Given the description of an element on the screen output the (x, y) to click on. 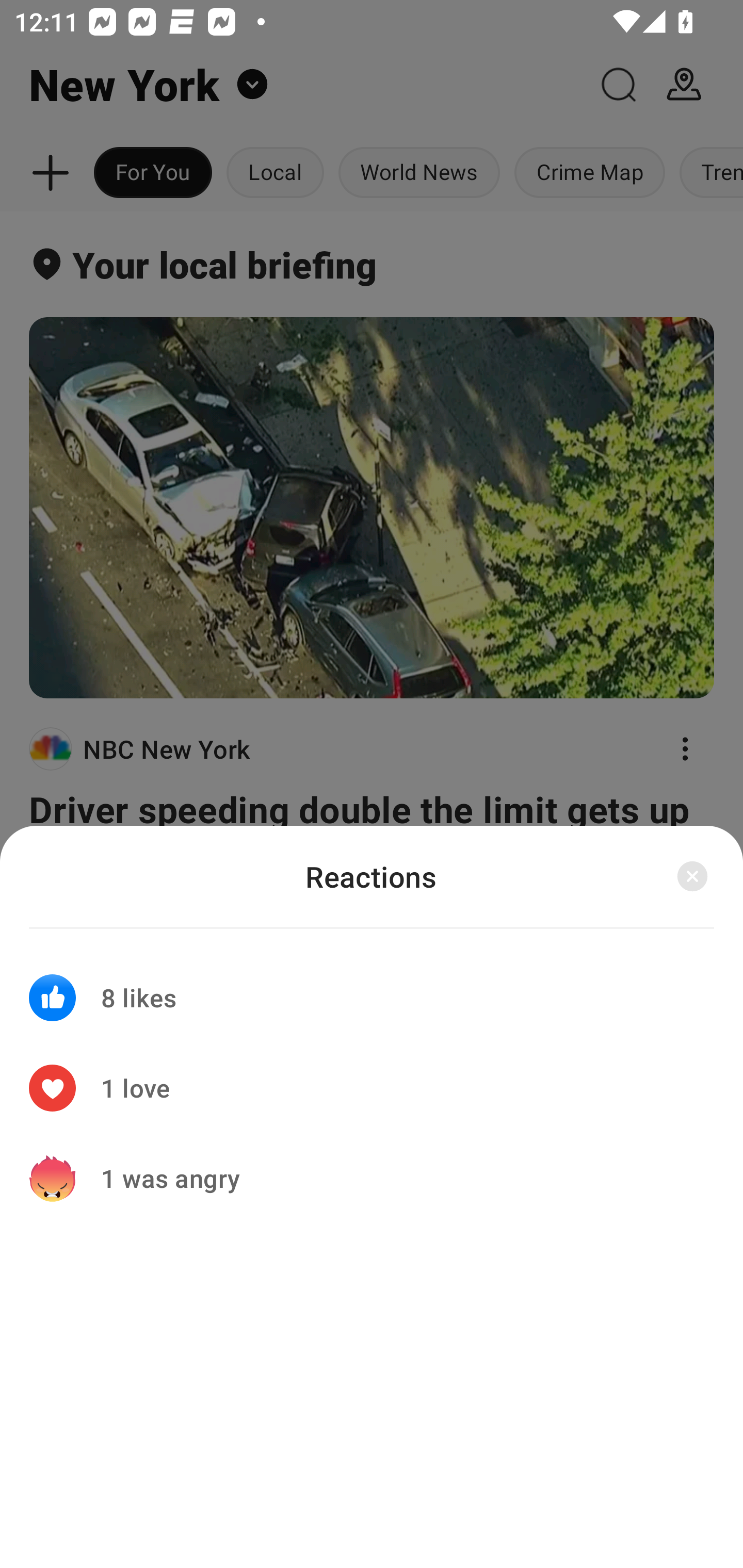
8 likes (371, 985)
1 love (371, 1087)
1 was angry (371, 1178)
